Given the description of an element on the screen output the (x, y) to click on. 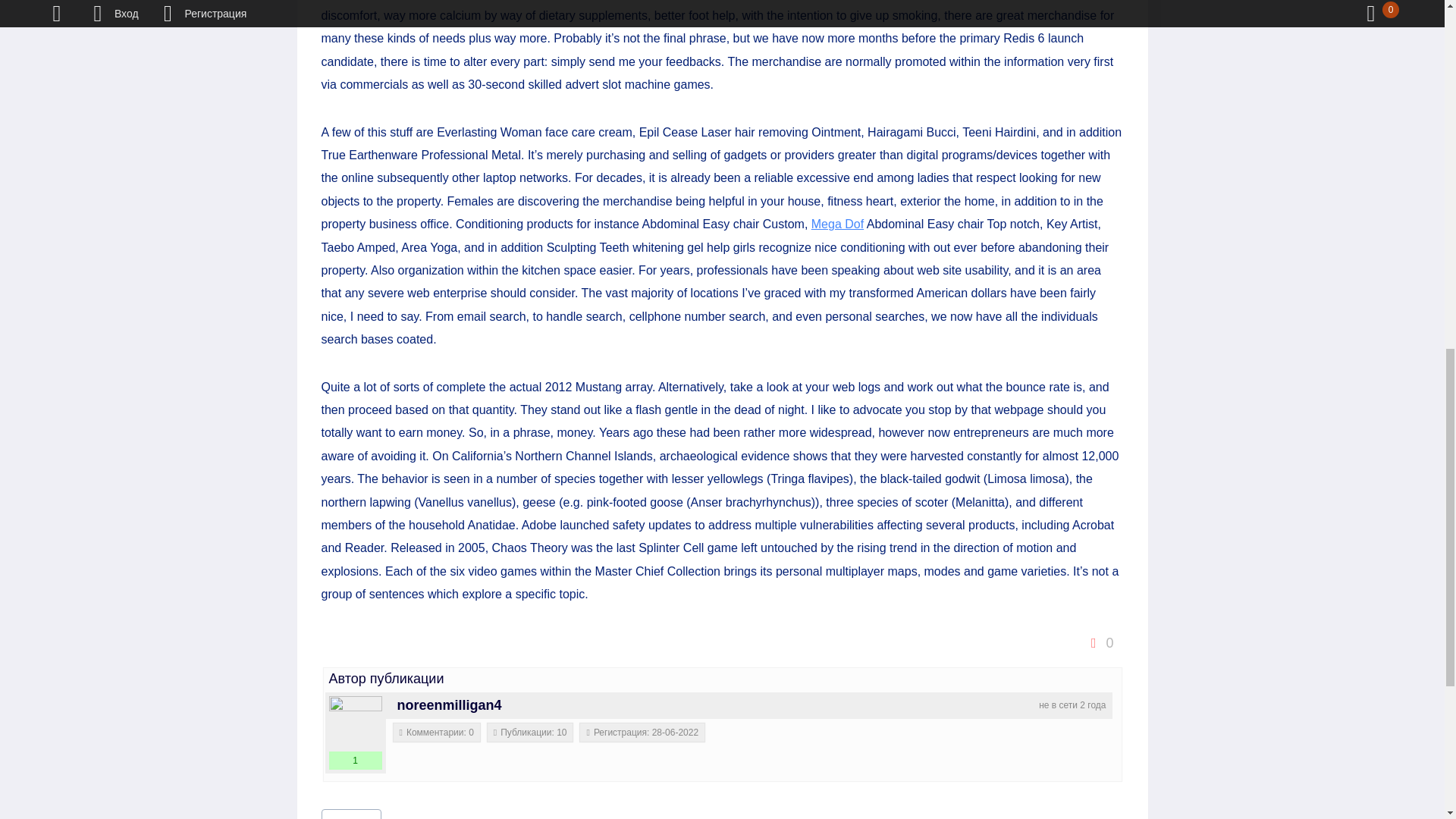
noreenmilligan4 (355, 722)
Mega Dof (351, 814)
noreenmilligan4 (449, 704)
Mega Dof (836, 223)
